Given the description of an element on the screen output the (x, y) to click on. 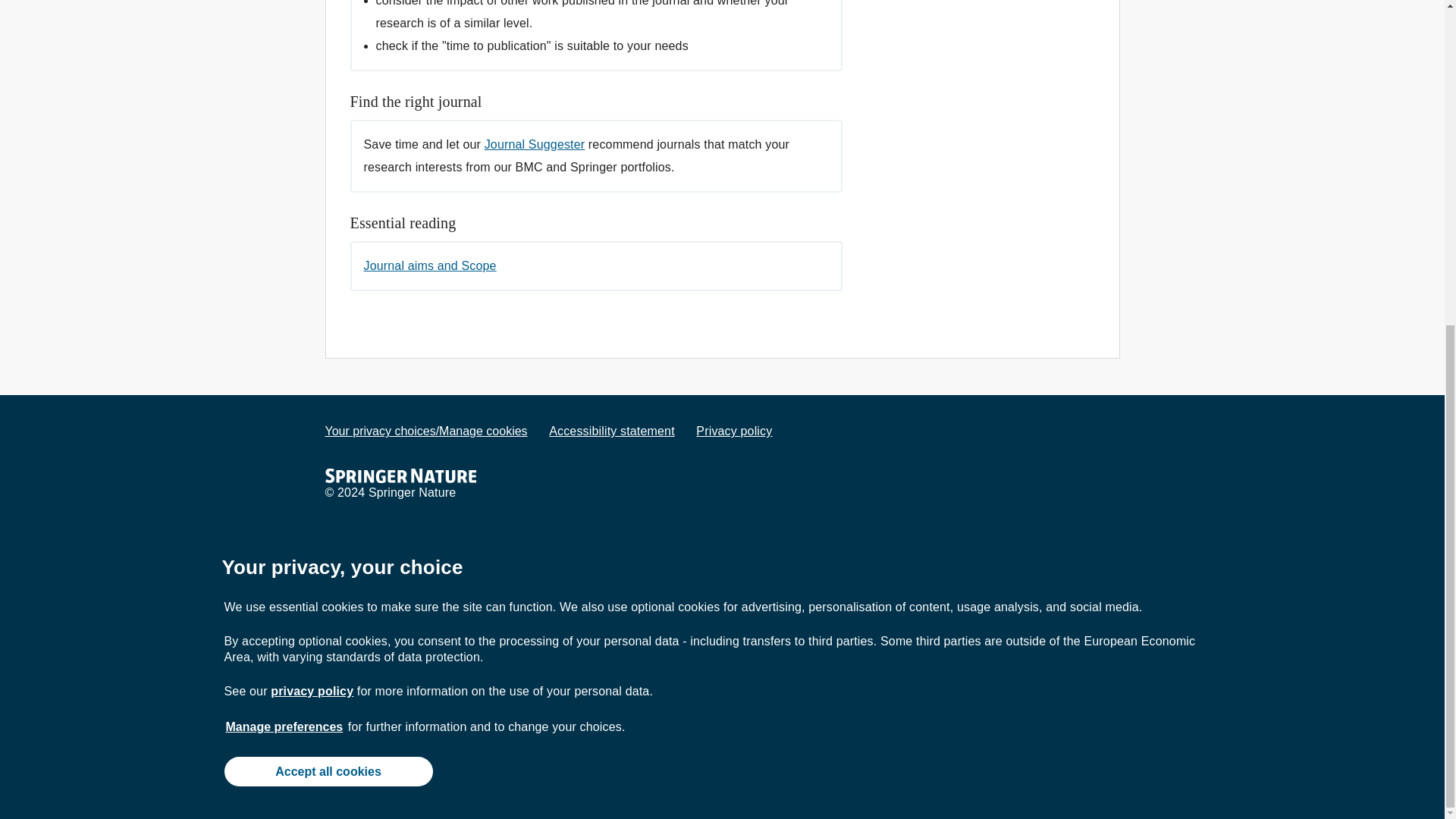
Accept all cookies (328, 238)
Journal Suggester (534, 144)
Accessibility statement (611, 431)
Manage preferences (284, 194)
privacy policy (311, 158)
Privacy policy (733, 431)
Journal aims and Scope (439, 265)
